Given the description of an element on the screen output the (x, y) to click on. 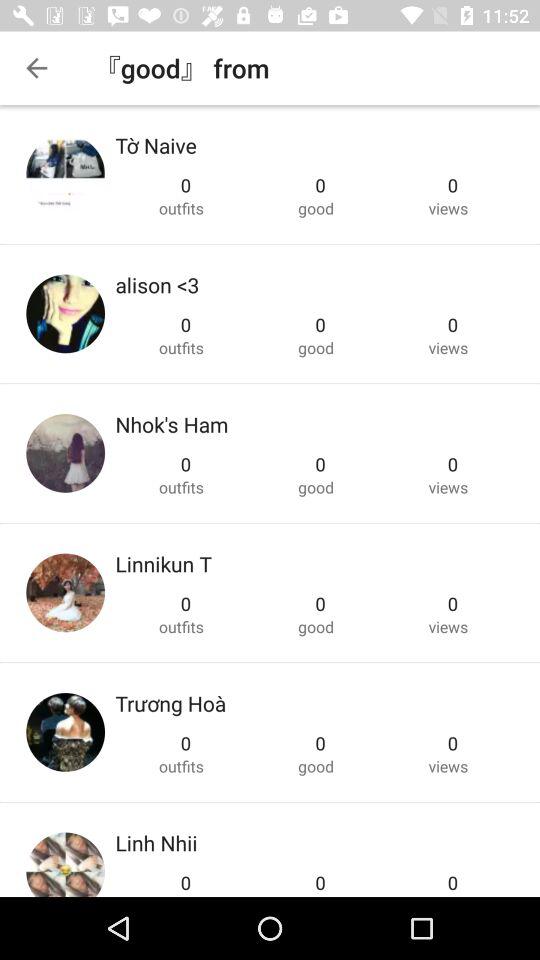
open icon above the   0 item (163, 563)
